Given the description of an element on the screen output the (x, y) to click on. 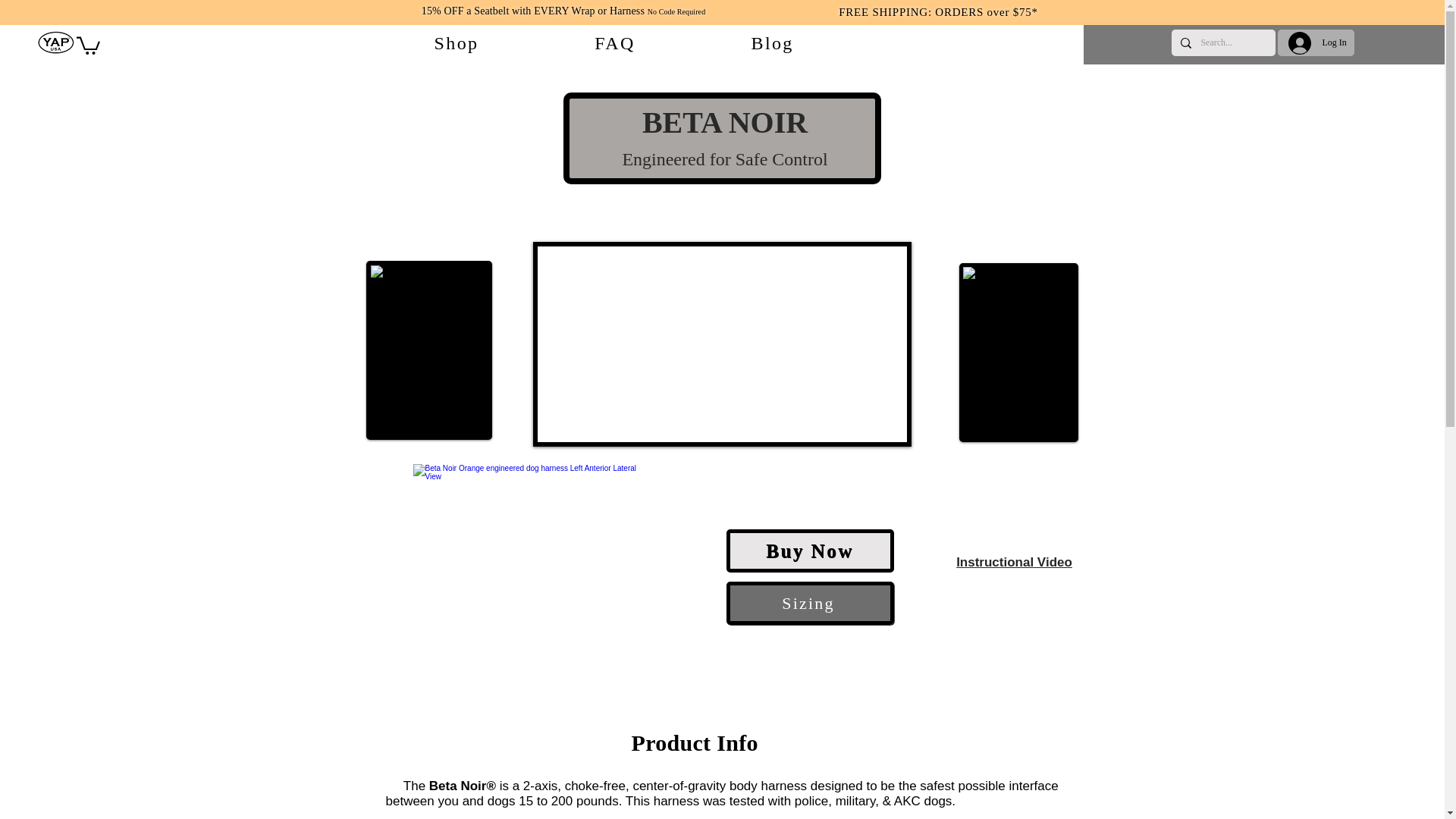
FAQ (615, 44)
Buy Now (809, 550)
Sizing (809, 602)
Log In (613, 44)
Instructional Video (1316, 42)
Shop (1013, 562)
Blog (456, 44)
